Given the description of an element on the screen output the (x, y) to click on. 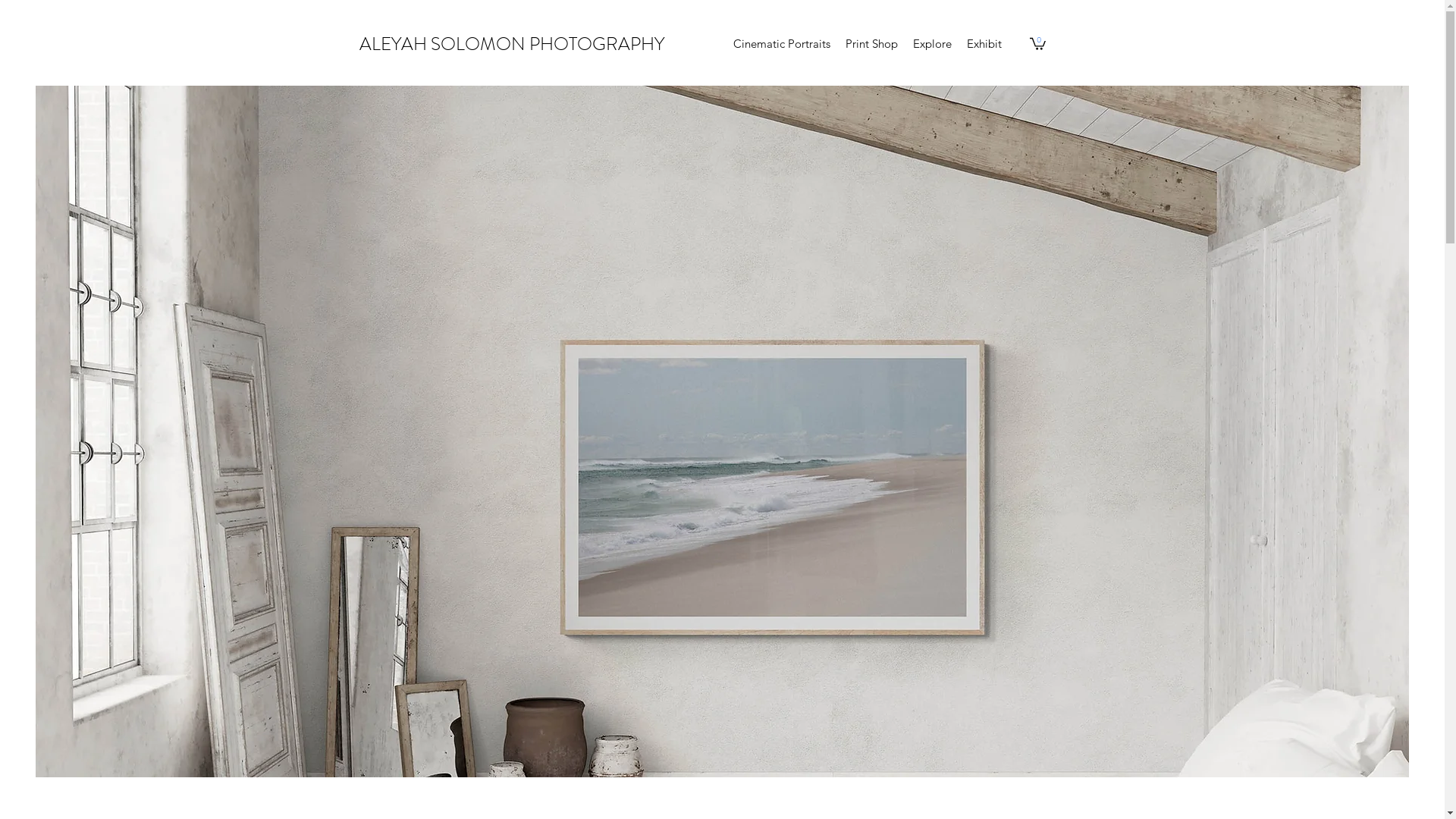
Exhibit Element type: text (984, 43)
Print Shop Element type: text (871, 43)
Cinematic Portraits Element type: text (781, 43)
0 Element type: text (1037, 43)
ALEYAH SOLOMON PHOTOGRAPHY Element type: text (511, 43)
Explore Element type: text (932, 43)
